Given the description of an element on the screen output the (x, y) to click on. 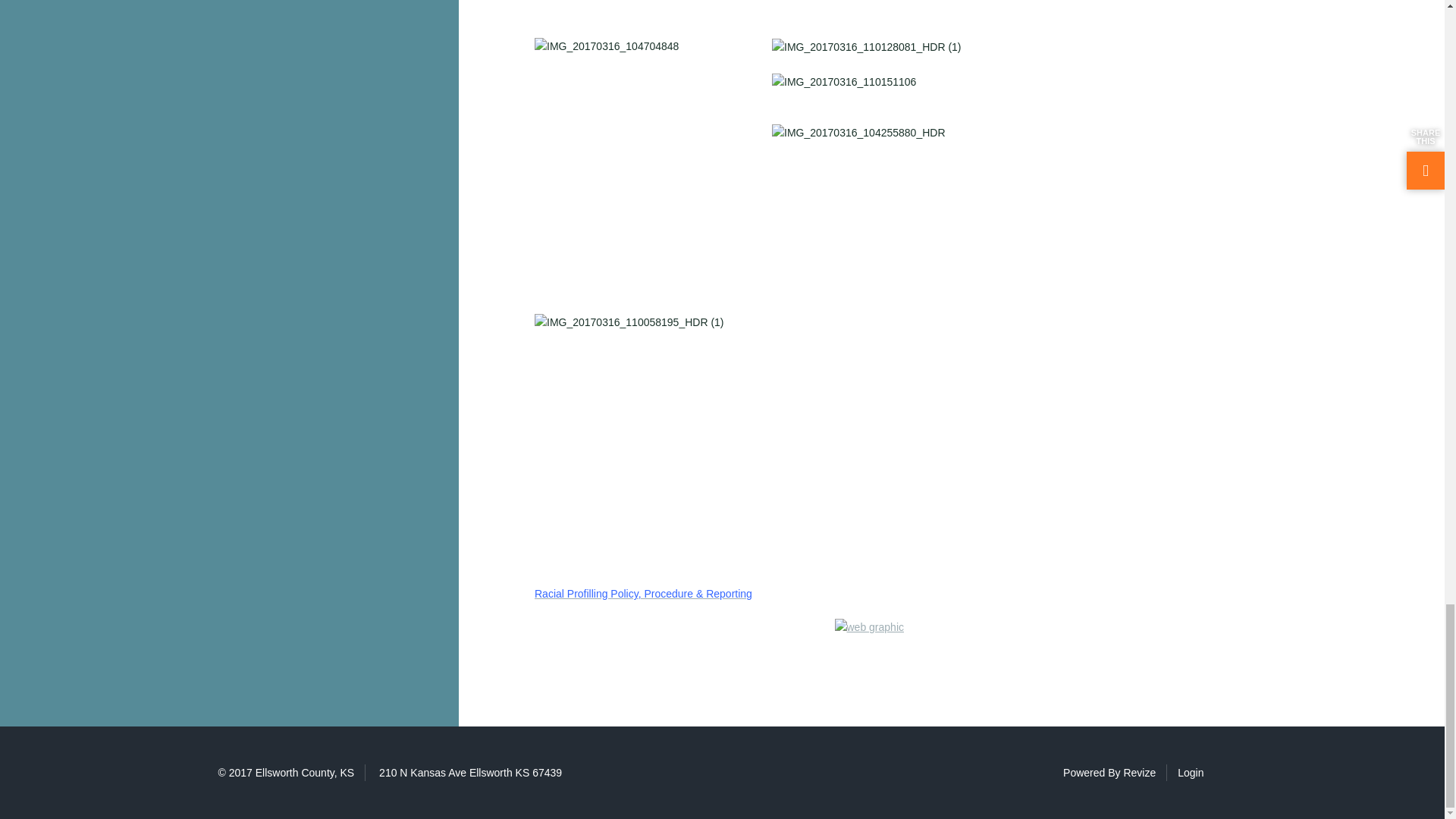
web graphic (869, 627)
